Given the description of an element on the screen output the (x, y) to click on. 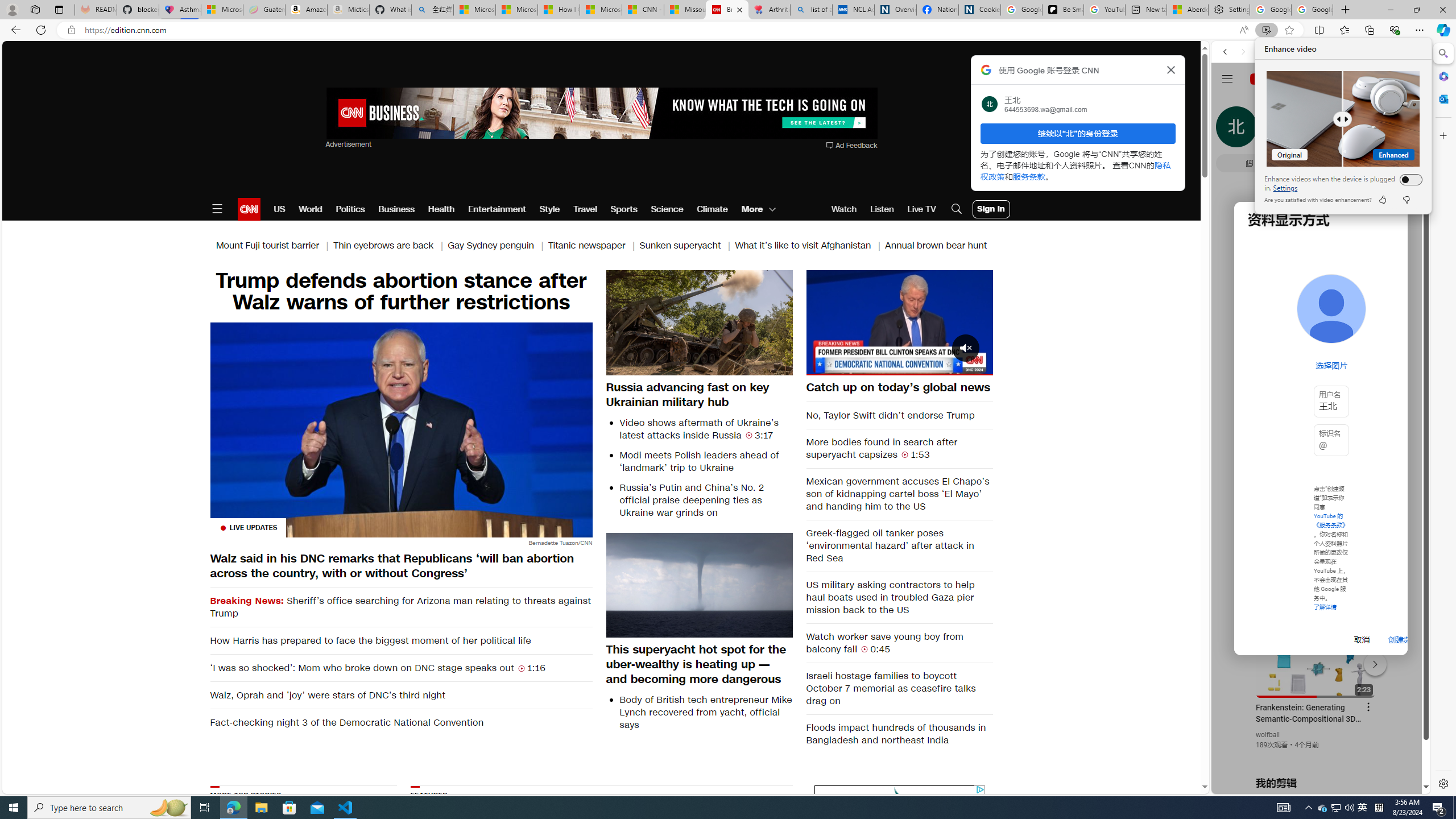
wolfball (1268, 734)
YouTube - YouTube (1315, 560)
Start (13, 807)
Captions Unavailable (927, 365)
Be Smart | creating Science videos | Patreon (1062, 9)
Show More Music (1390, 310)
Trailer #2 [HD] (1320, 337)
Sunken superyacht | (1335, 807)
AutomationID: tag (687, 245)
